Given the description of an element on the screen output the (x, y) to click on. 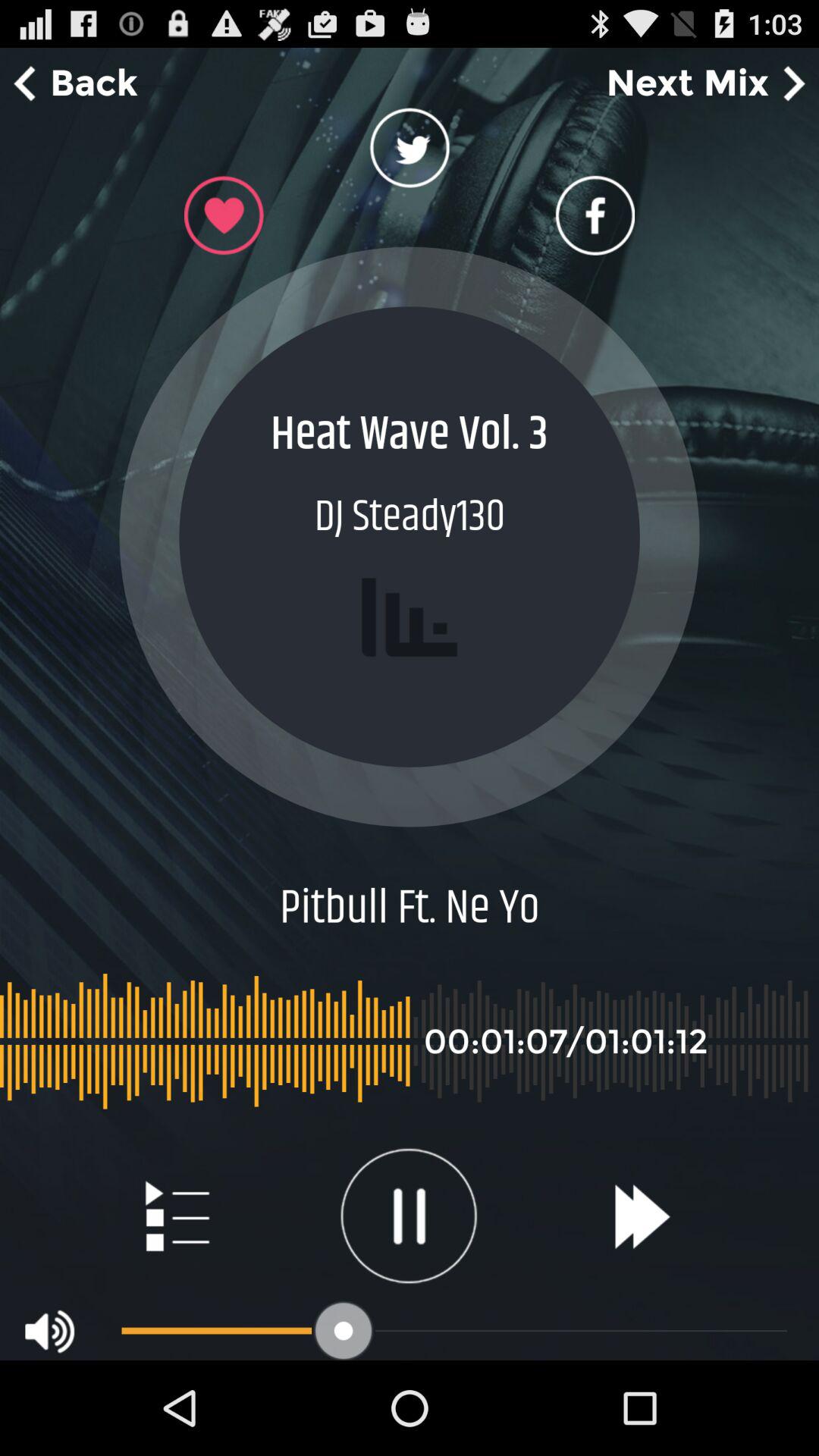
go to check which tracks are on the playlist (175, 1215)
